Given the description of an element on the screen output the (x, y) to click on. 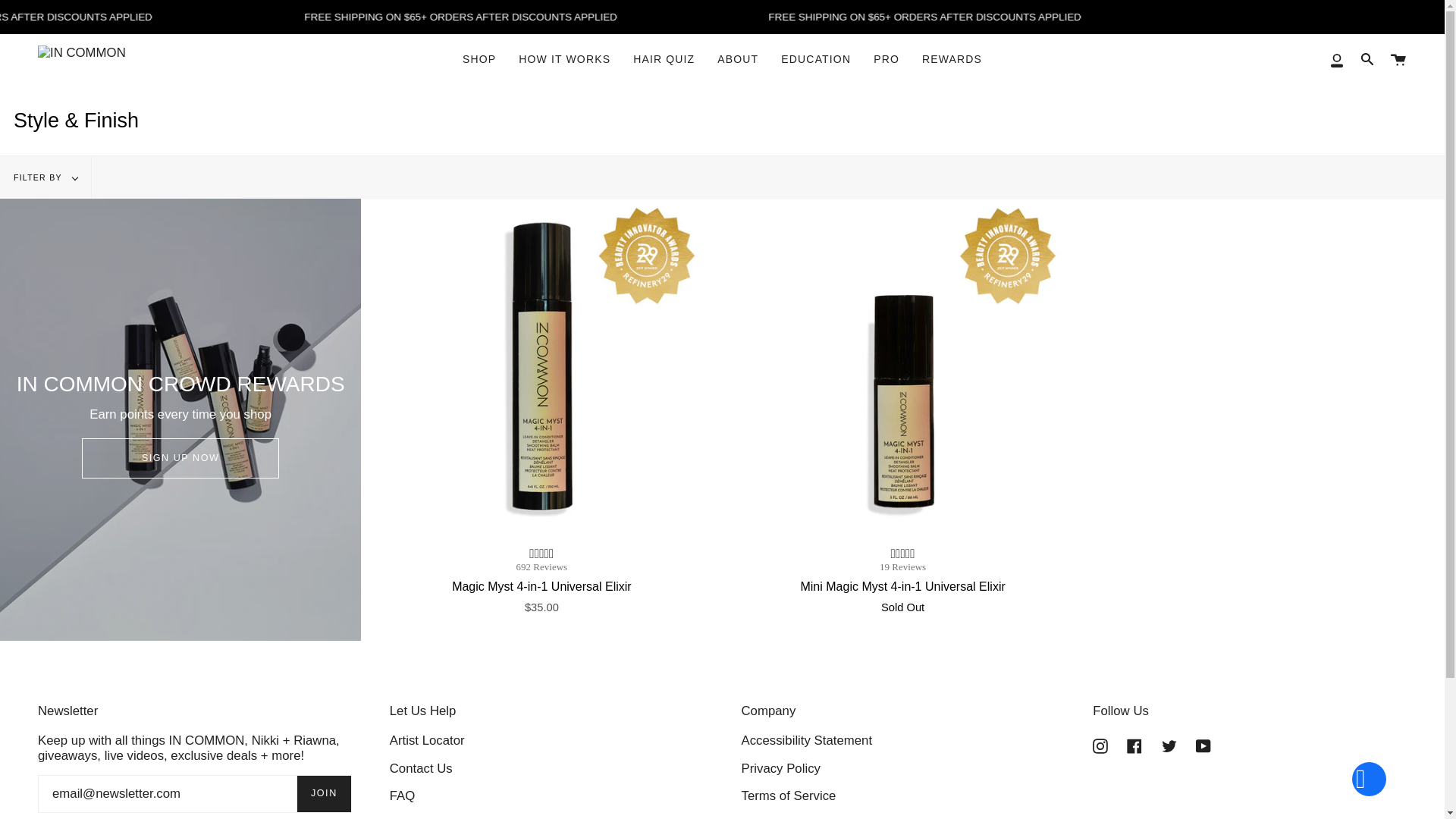
SHOP (478, 59)
IN COMMON on Facebook (1133, 744)
IN COMMON on Twitter (1168, 744)
HAIR QUIZ (663, 59)
HOW IT WORKS (563, 59)
REWARDS (951, 59)
IN COMMON on Instagram (1100, 744)
ABOUT (738, 59)
PRO (886, 59)
IN COMMON on YouTube (1203, 744)
